Given the description of an element on the screen output the (x, y) to click on. 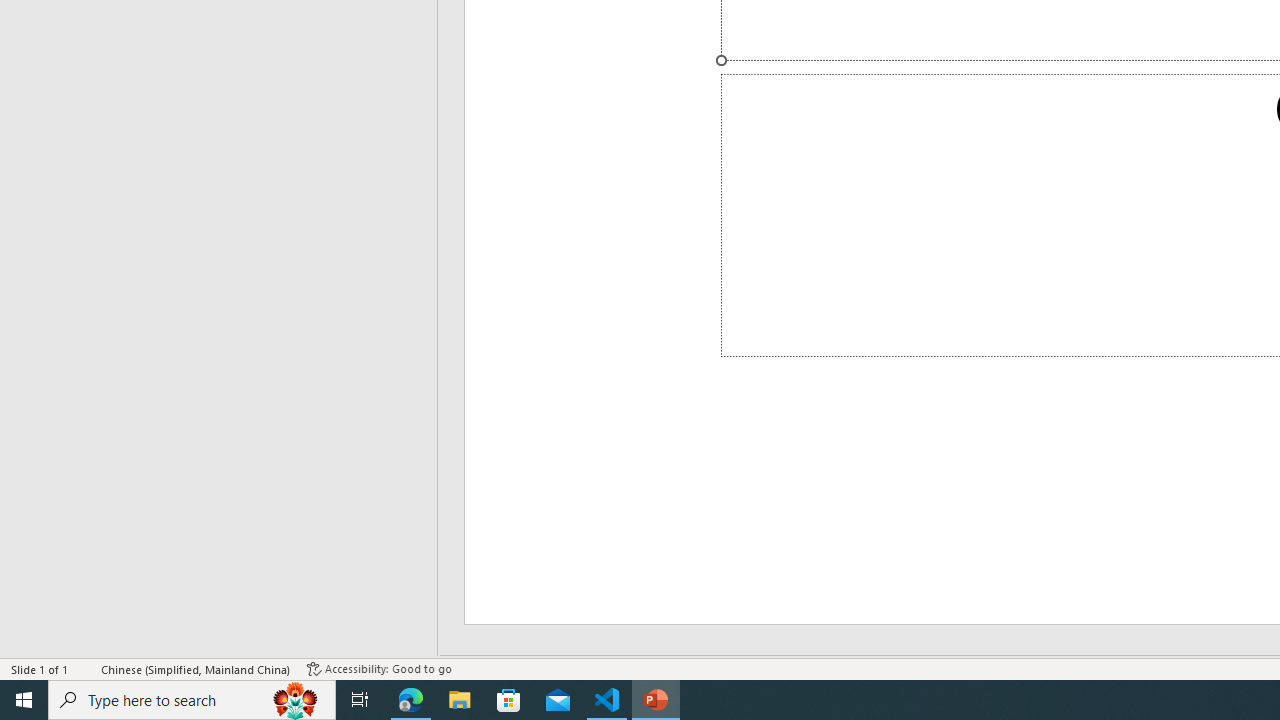
Spell Check  (86, 668)
